Given the description of an element on the screen output the (x, y) to click on. 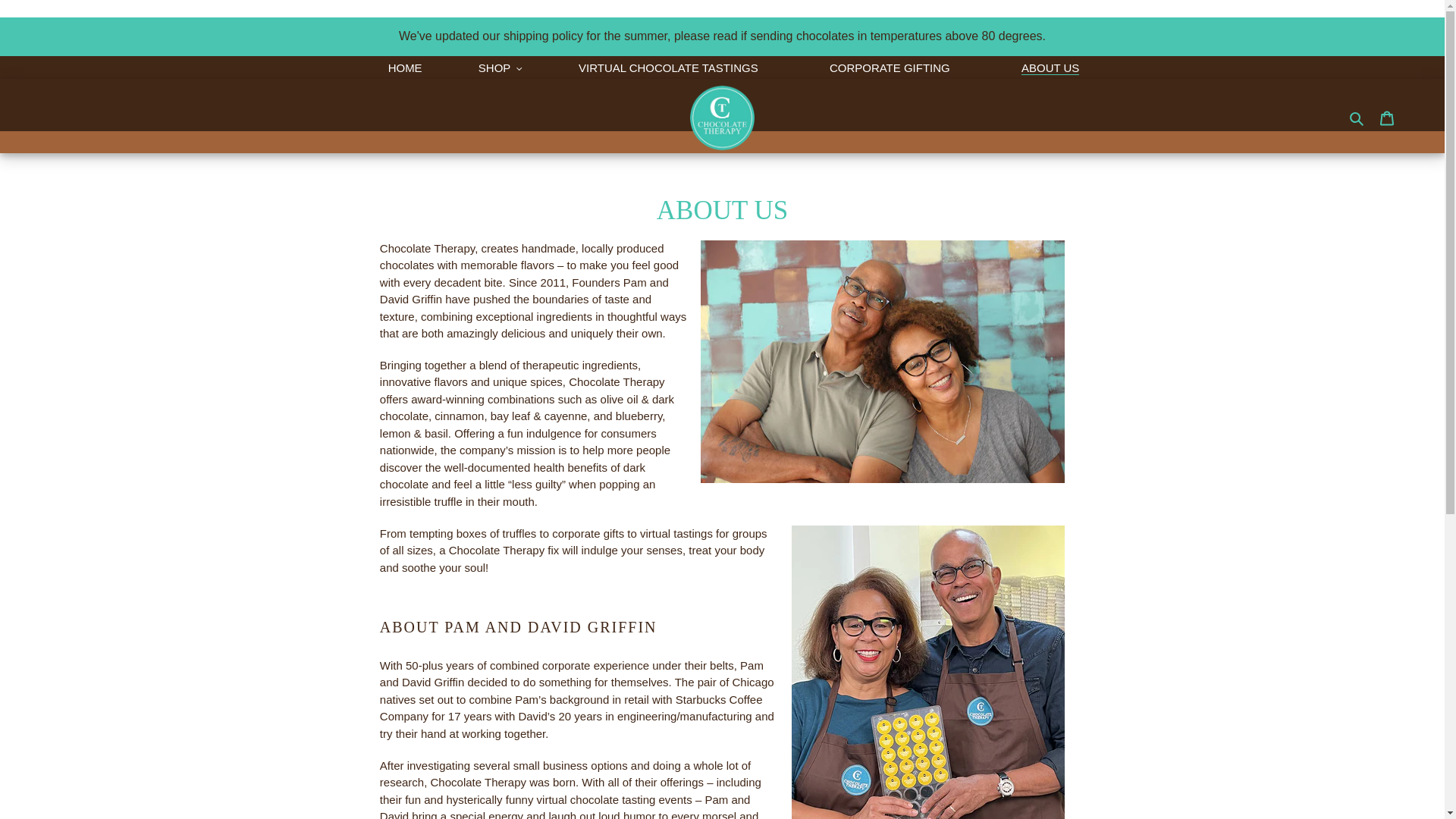
CORPORATE GIFTING (889, 68)
ABOUT US (1050, 68)
Cart (1387, 117)
Search (1357, 117)
SHOP (499, 68)
HOME (405, 68)
VIRTUAL CHOCOLATE TASTINGS (668, 68)
